Given the description of an element on the screen output the (x, y) to click on. 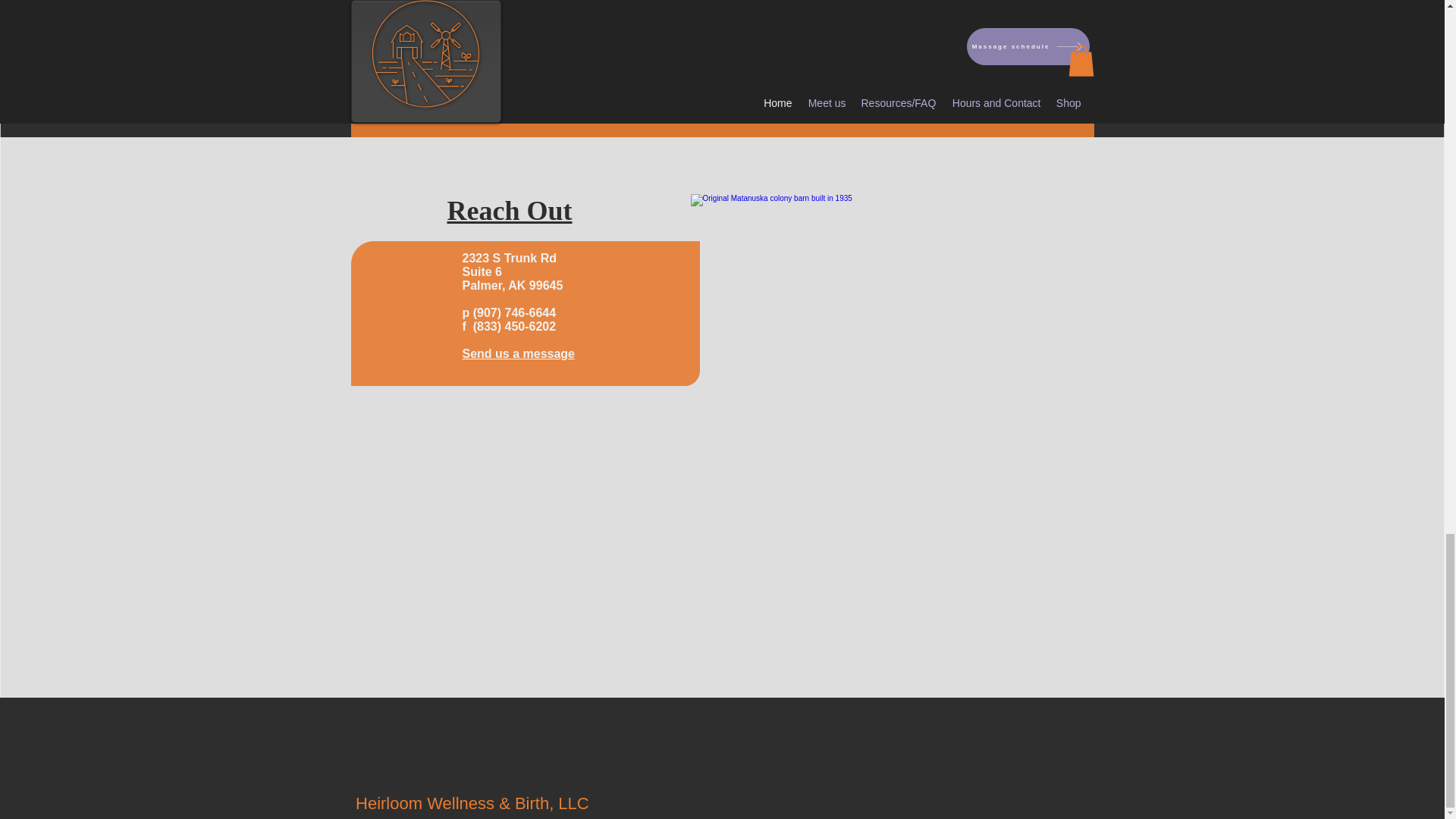
Send us a message (519, 353)
Reach Out (509, 210)
